Given the description of an element on the screen output the (x, y) to click on. 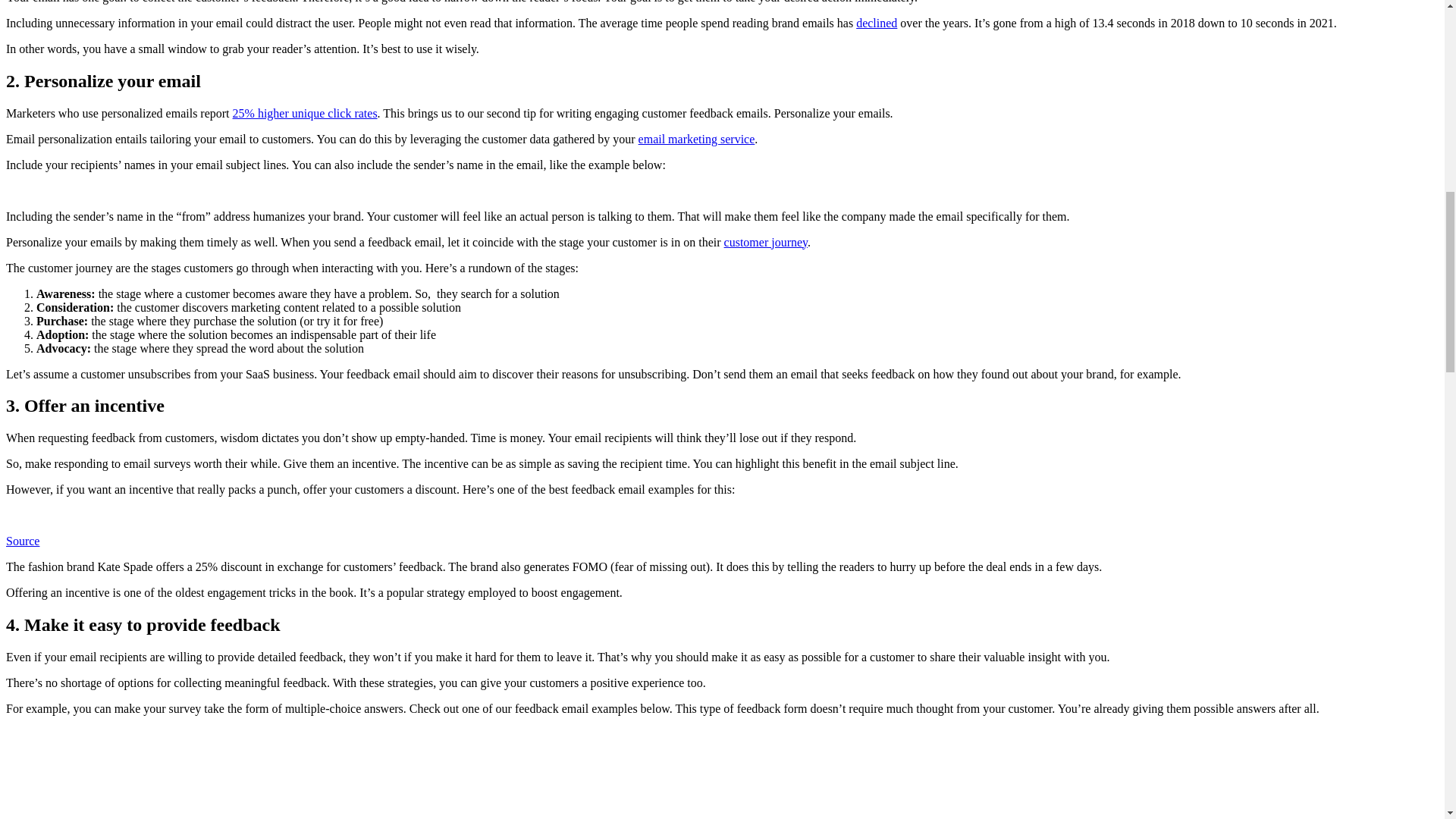
Source (22, 540)
declined (876, 22)
Source (22, 540)
declined (876, 22)
email marketing service (697, 137)
customer journey (765, 241)
